Given the description of an element on the screen output the (x, y) to click on. 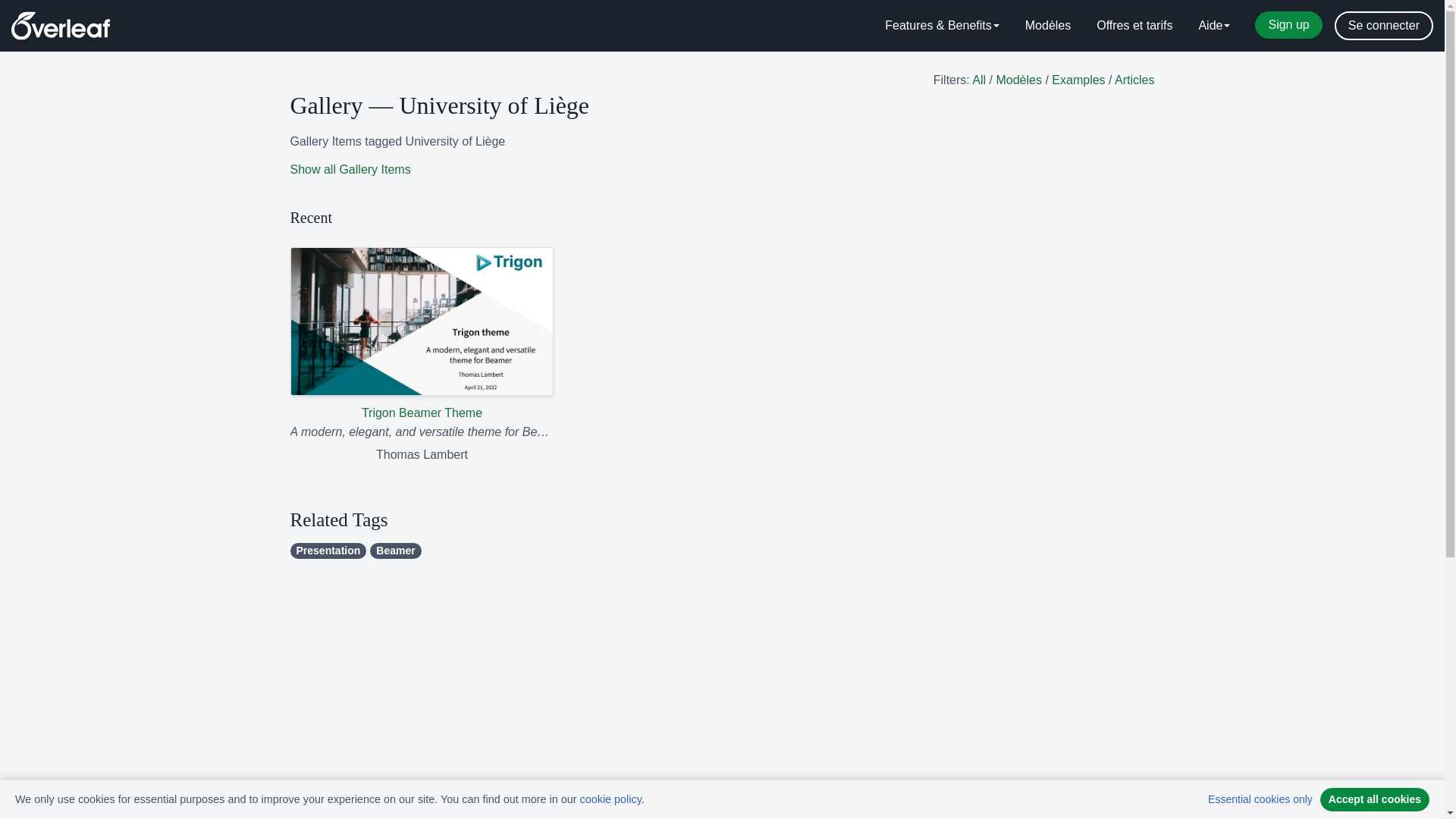
Aide (1214, 25)
Examples (1078, 79)
Sign up (1288, 24)
Se connecter (1383, 25)
Offres et tarifs (1134, 25)
Beamer (394, 550)
Show all Gallery Items (349, 169)
Articles (1134, 79)
Presentation (327, 550)
Trigon Beamer Theme (421, 335)
All (978, 79)
